Given the description of an element on the screen output the (x, y) to click on. 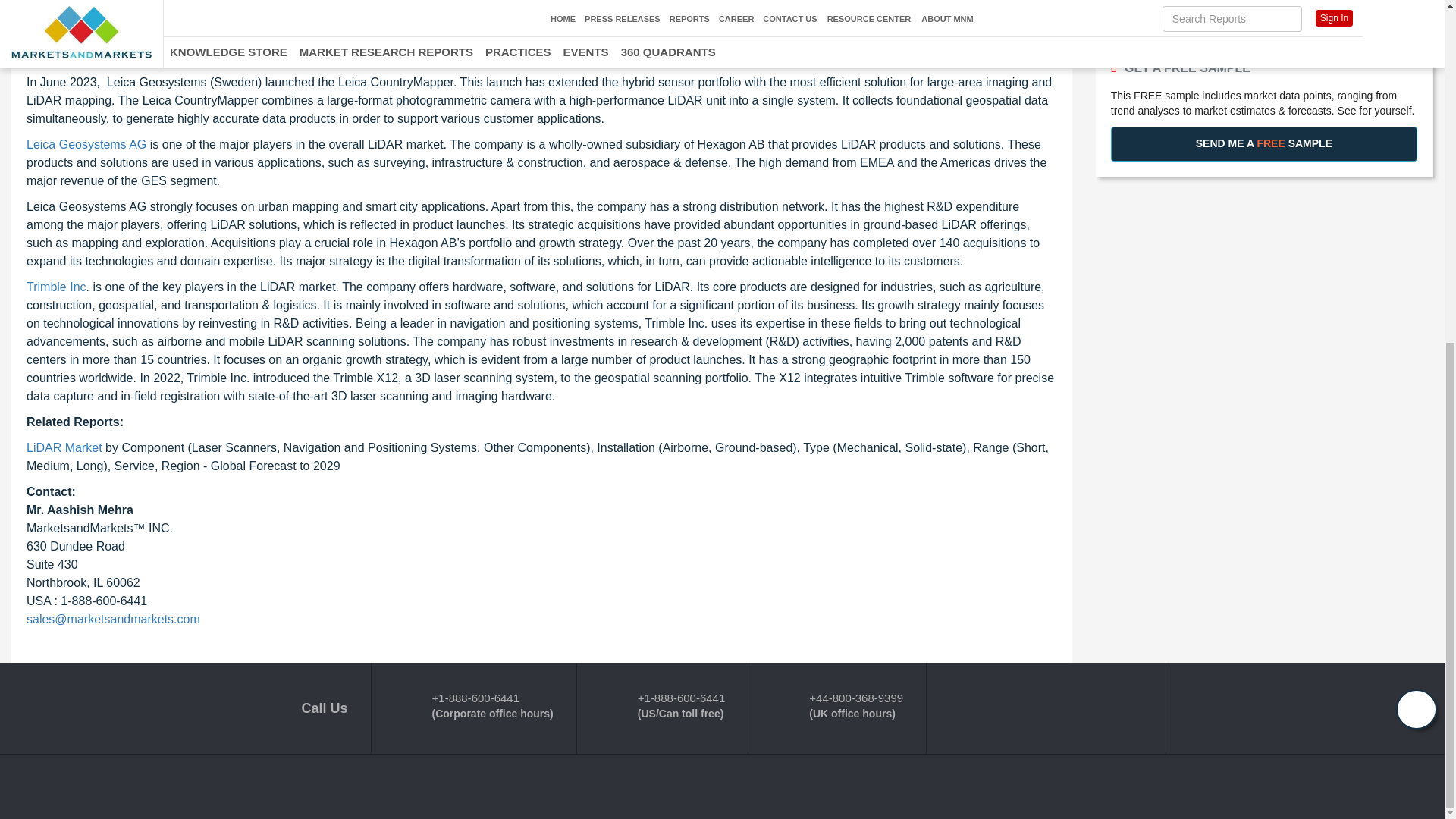
SEND ME A FREE SAMPLE (1263, 143)
LiDAR Market (65, 447)
Trimble Inc (55, 286)
Leica Geosystems AG (86, 144)
REQUEST BUNDLE REPORTS (1263, 6)
